Given the description of an element on the screen output the (x, y) to click on. 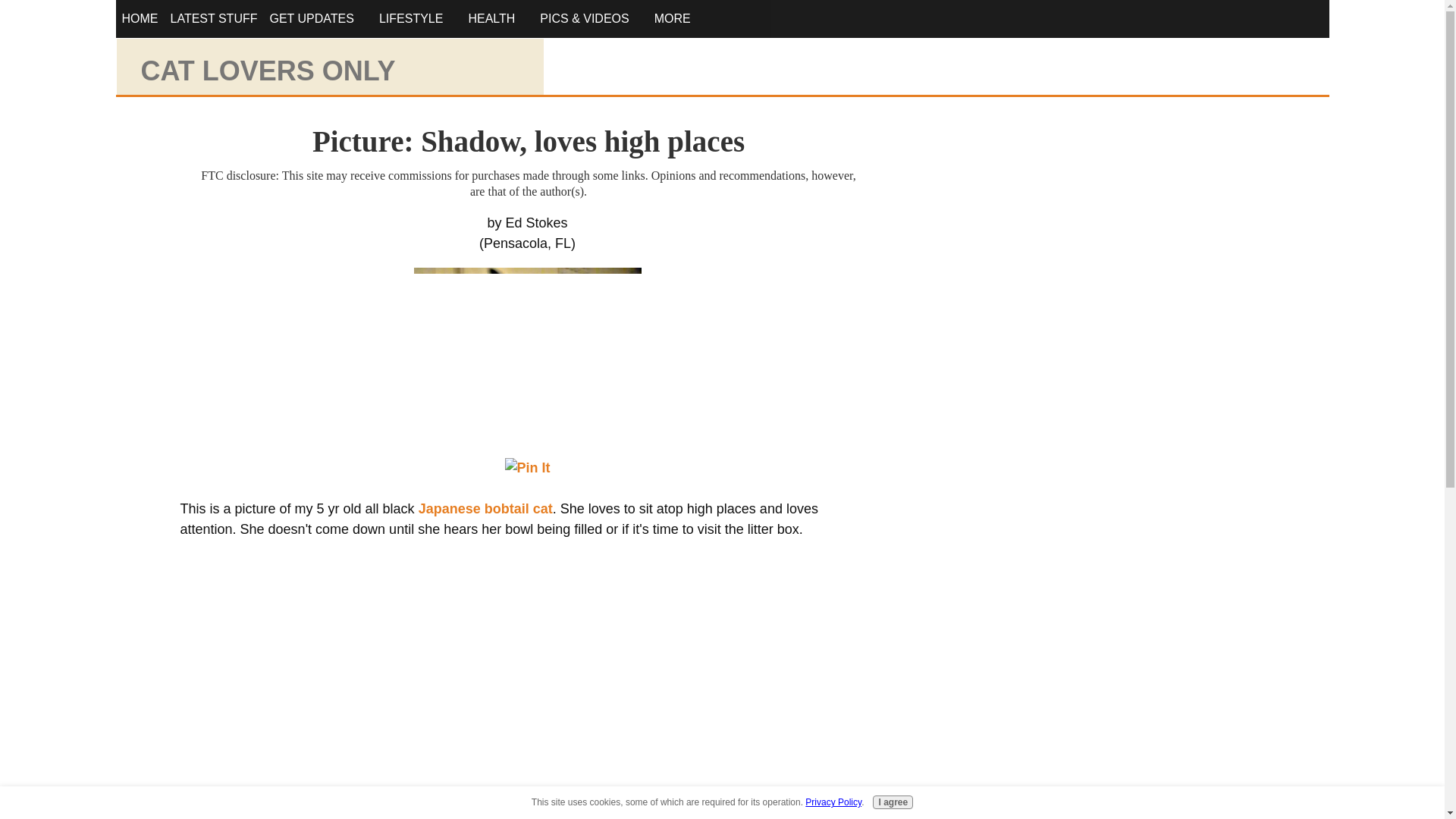
Privacy Policy (833, 801)
GET UPDATES (311, 18)
CAT LOVERS ONLY (268, 70)
Japanese bobtail cat (486, 508)
Pin It (527, 467)
HOME (139, 18)
I agree (892, 802)
LATEST STUFF (213, 18)
